Given the description of an element on the screen output the (x, y) to click on. 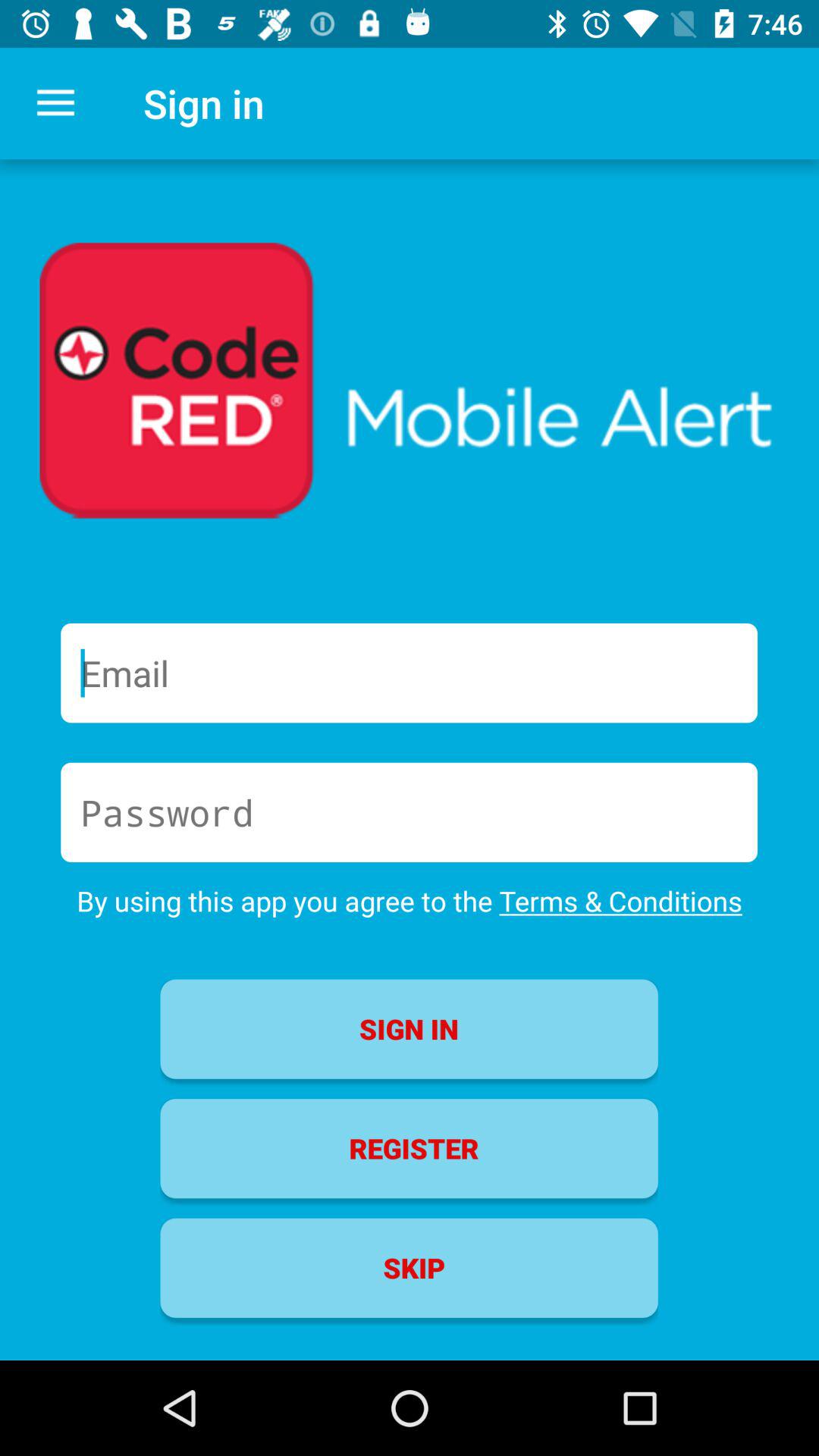
turn off the by using this icon (409, 900)
